Given the description of an element on the screen output the (x, y) to click on. 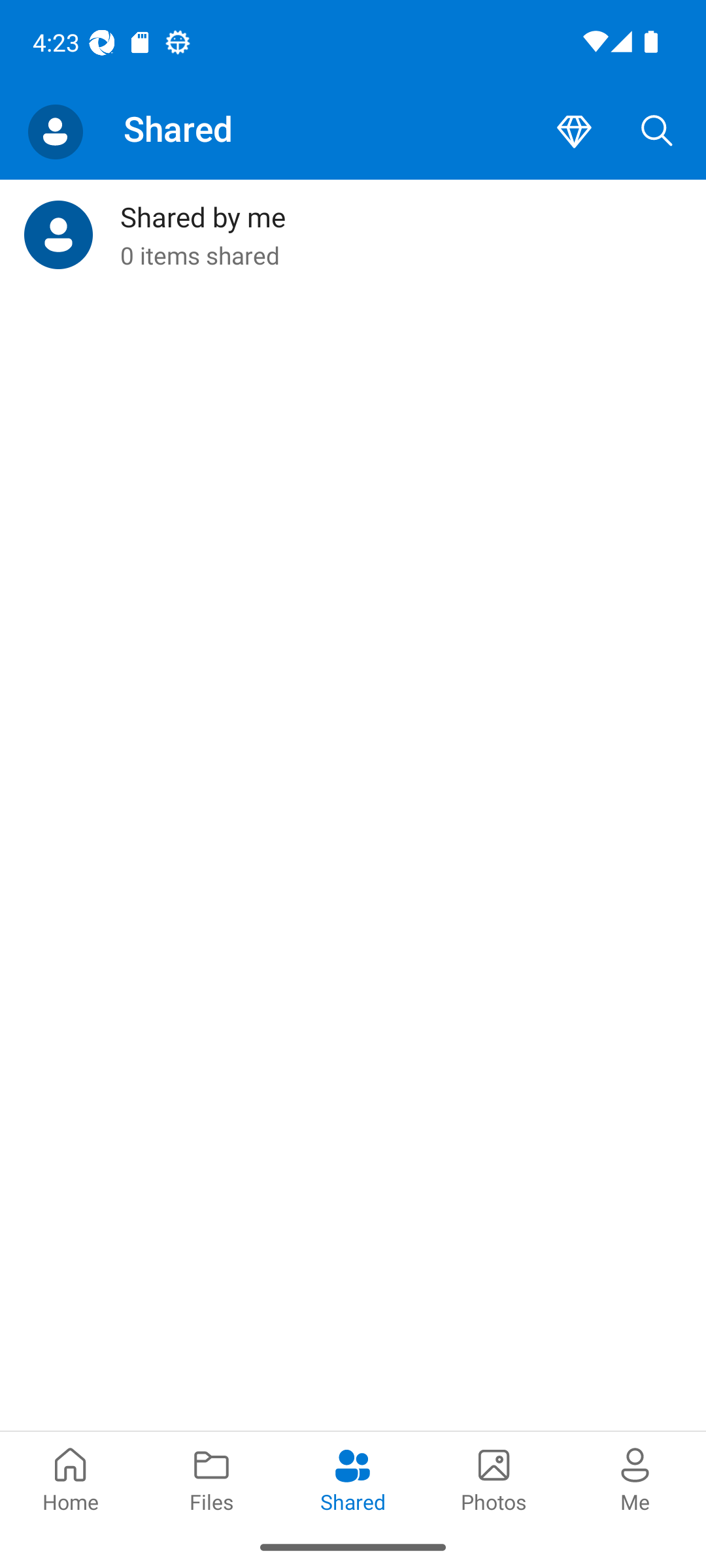
Account switcher (55, 131)
Premium button (574, 131)
Search button (656, 131)
0 Shared by me 0 items shared (353, 235)
Home pivot Home (70, 1478)
Files pivot Files (211, 1478)
Photos pivot Photos (493, 1478)
Me pivot Me (635, 1478)
